Given the description of an element on the screen output the (x, y) to click on. 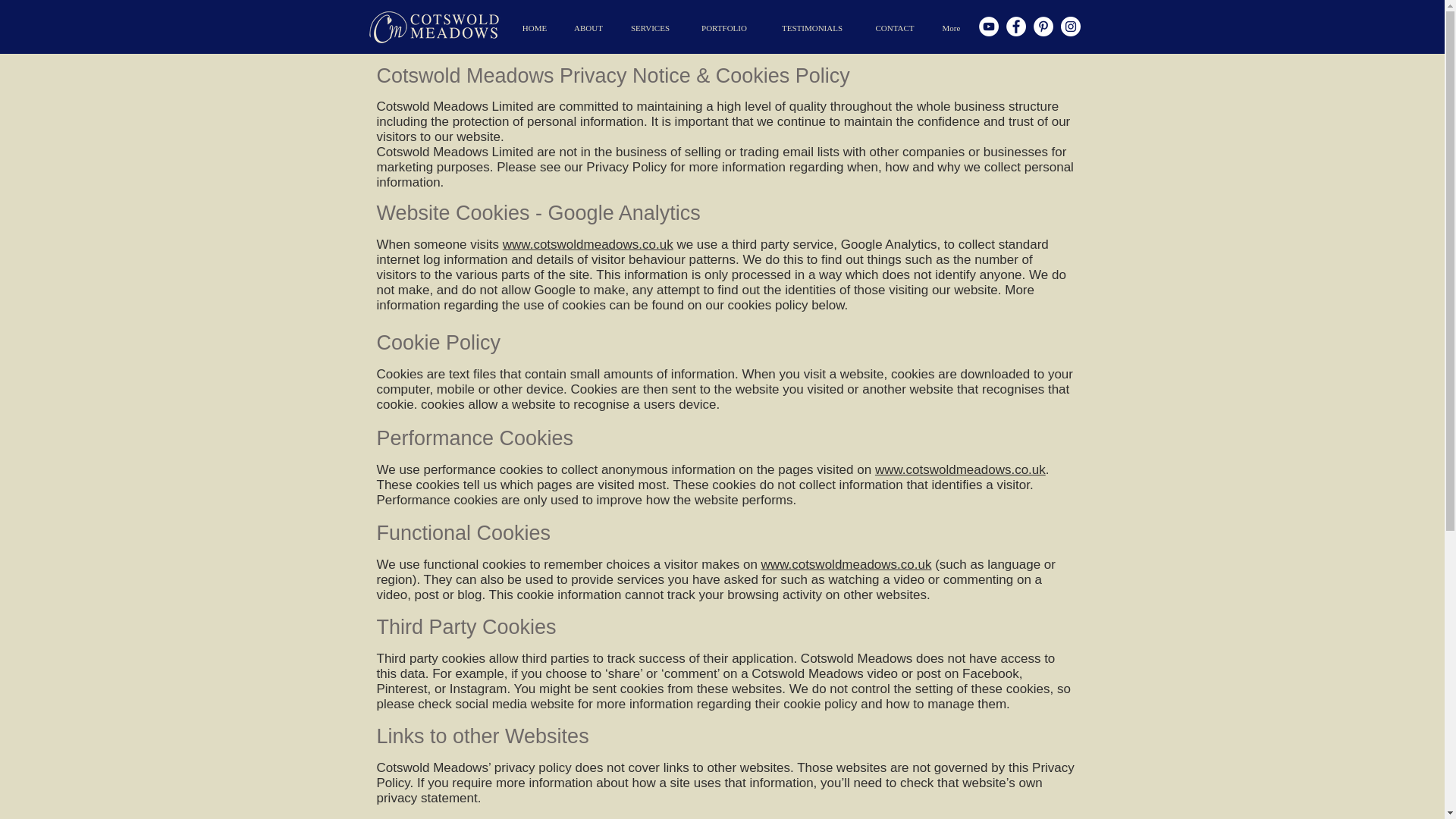
www.cotswoldmeadows.co.uk (587, 244)
www.cotswoldmeadows.co.uk (960, 469)
TESTIMONIALS (812, 27)
CONTACT (894, 27)
HOME (534, 27)
www.cotswoldmeadows.co.uk (846, 564)
PORTFOLIO (723, 27)
SERVICES (649, 27)
ABOUT (587, 27)
